Given the description of an element on the screen output the (x, y) to click on. 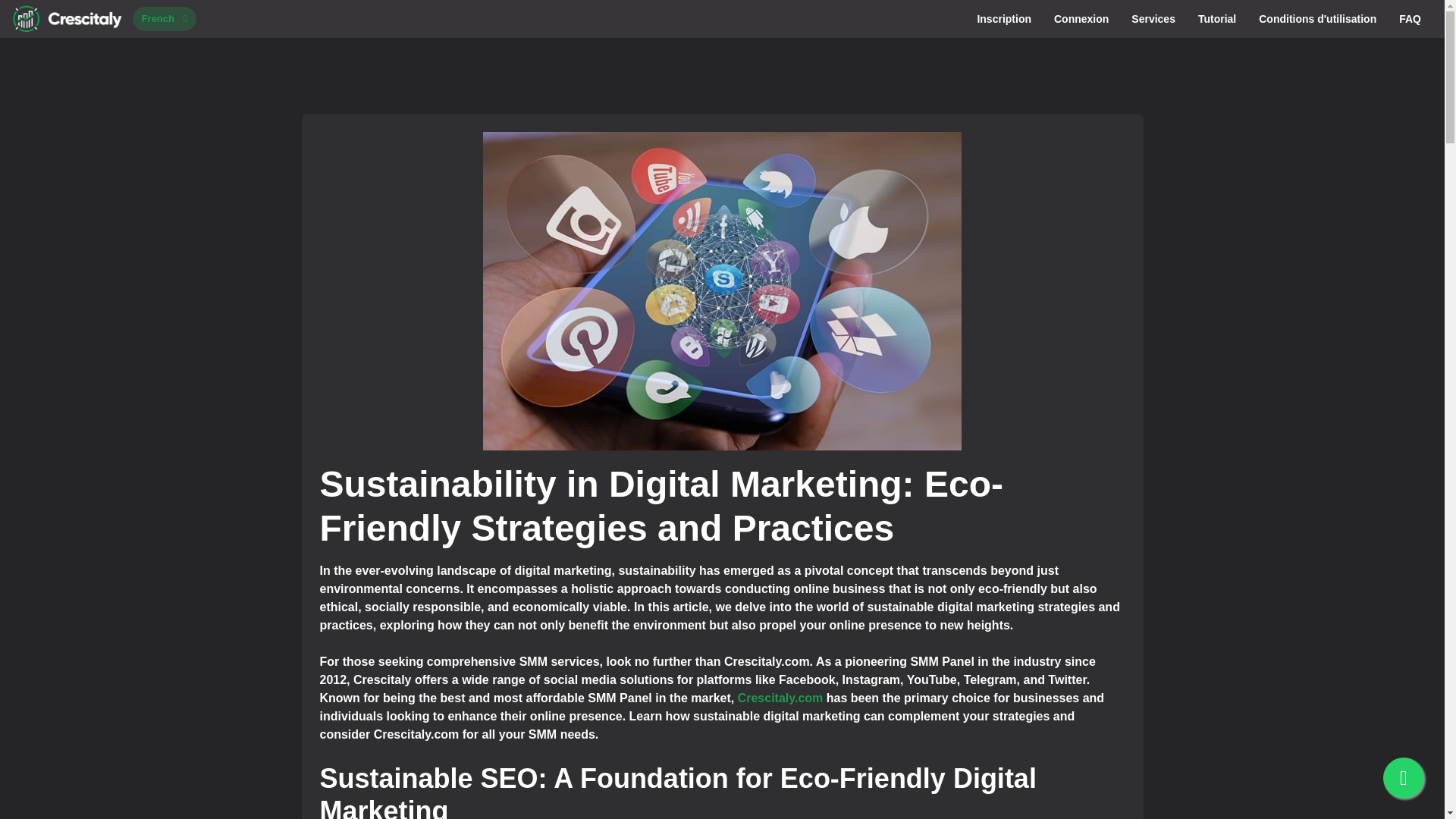
FAQ (1409, 18)
Inscription (1003, 18)
Crescitaly.com (781, 697)
Services (1152, 18)
Conditions d'utilisation (1317, 18)
Connexion (1080, 18)
Tutorial (1216, 18)
